Given the description of an element on the screen output the (x, y) to click on. 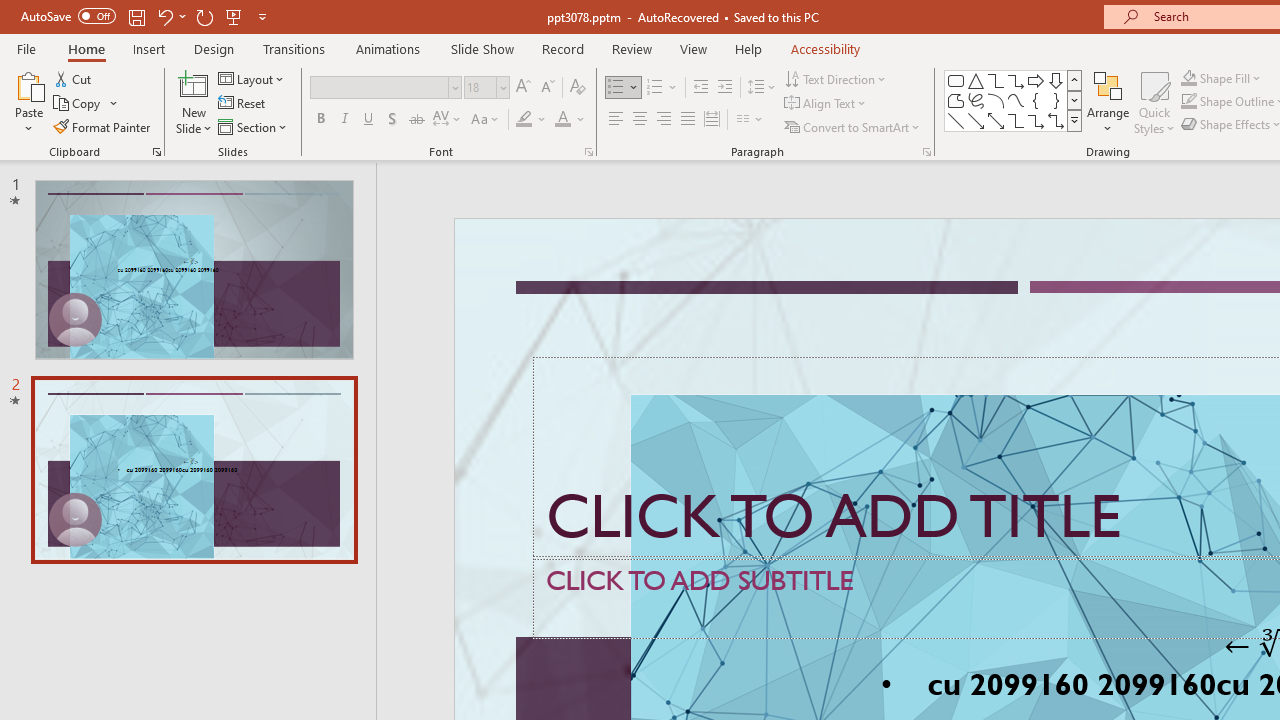
View (693, 48)
Font... (588, 151)
Reset (243, 103)
Animations (388, 48)
Arc (995, 100)
Center (639, 119)
Columns (750, 119)
Align Right (663, 119)
Review (631, 48)
Font Color (569, 119)
Text Highlight Color (531, 119)
Transitions (294, 48)
Office Clipboard... (156, 151)
